Given the description of an element on the screen output the (x, y) to click on. 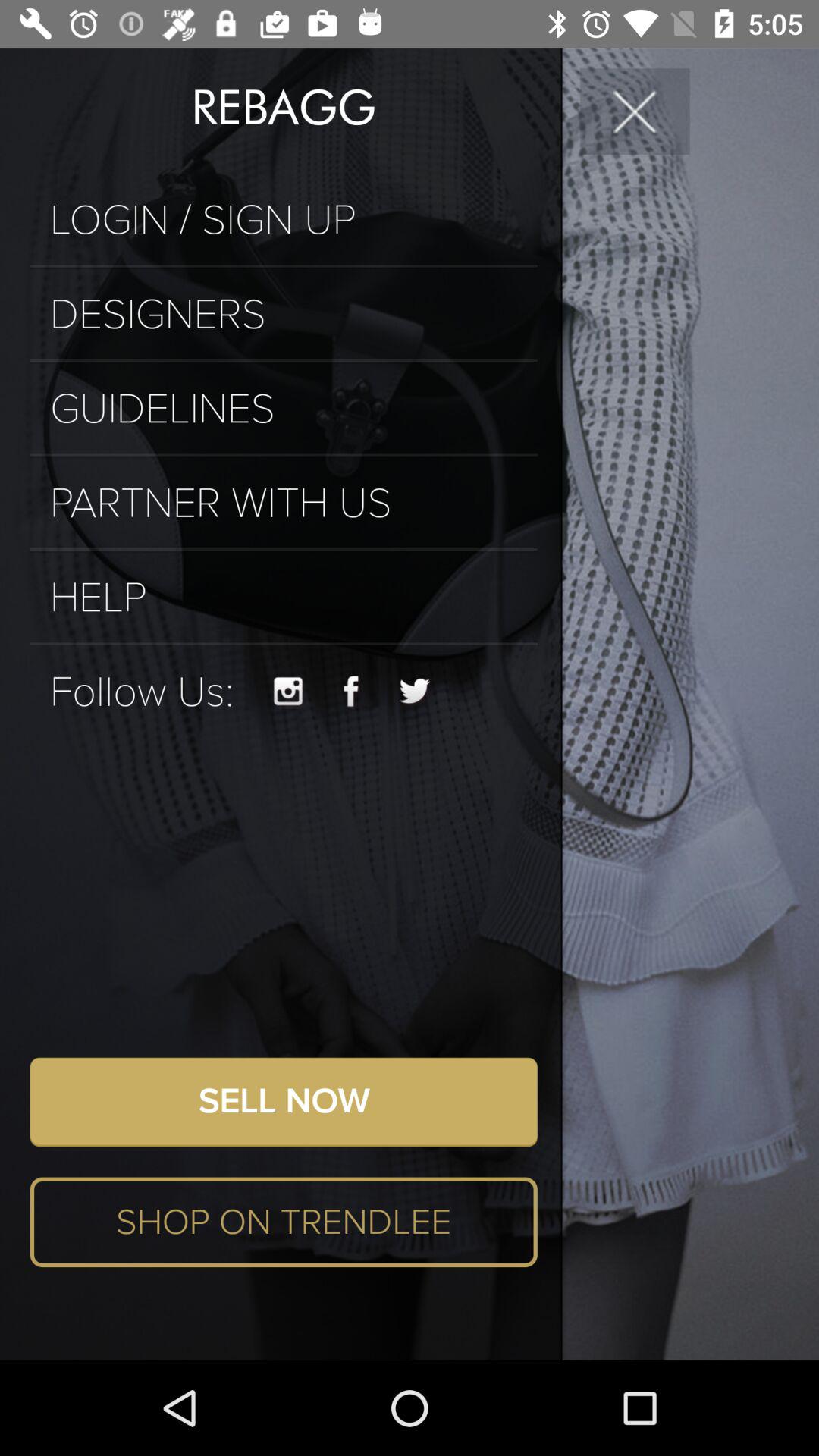
select instagram button on page (288, 691)
click on the text option sell now (283, 1102)
click on the facebook icon (351, 692)
click on the cross icon which is right to rebagg (635, 110)
